Given the description of an element on the screen output the (x, y) to click on. 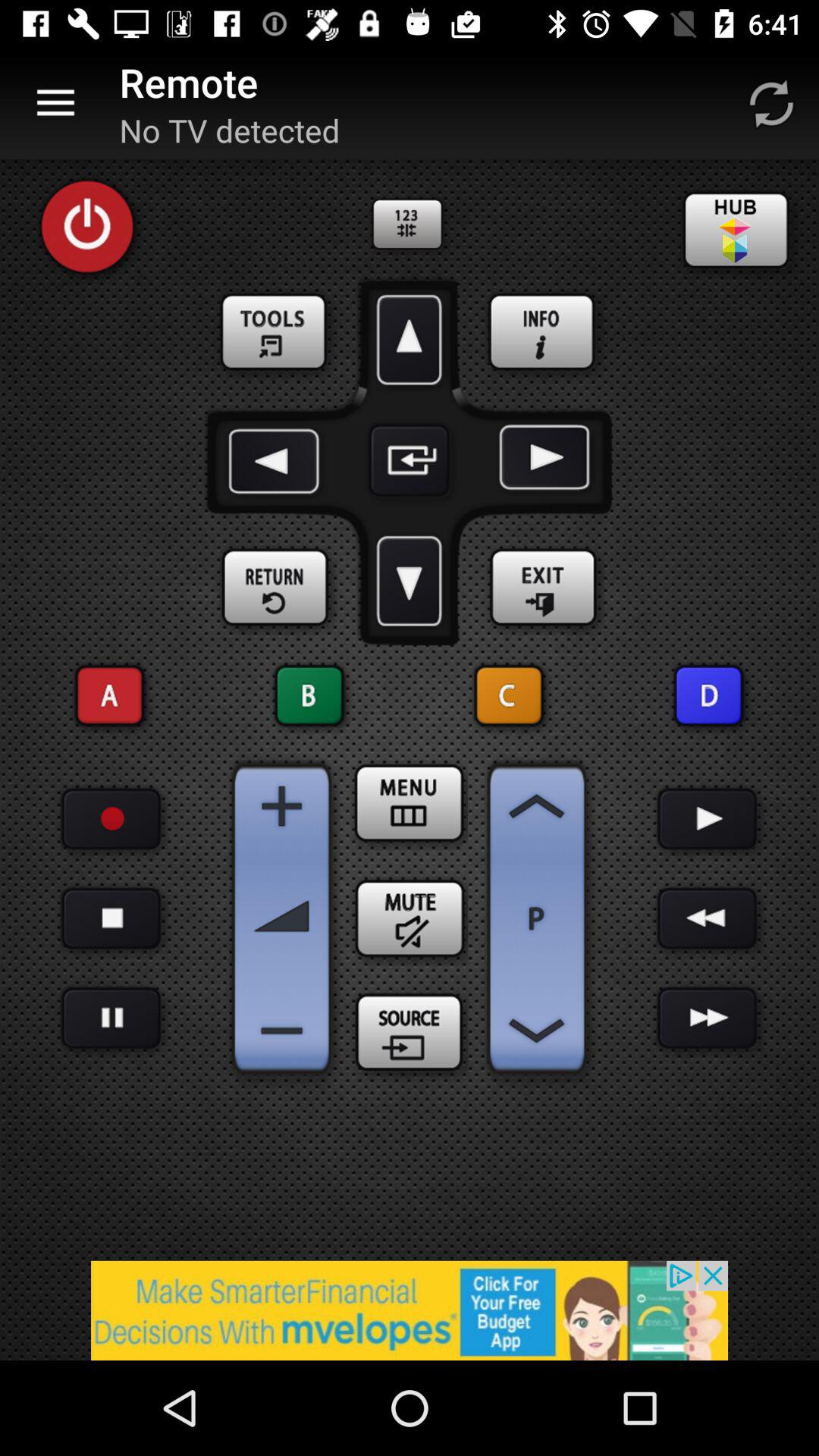
open tools/settings (275, 332)
